Given the description of an element on the screen output the (x, y) to click on. 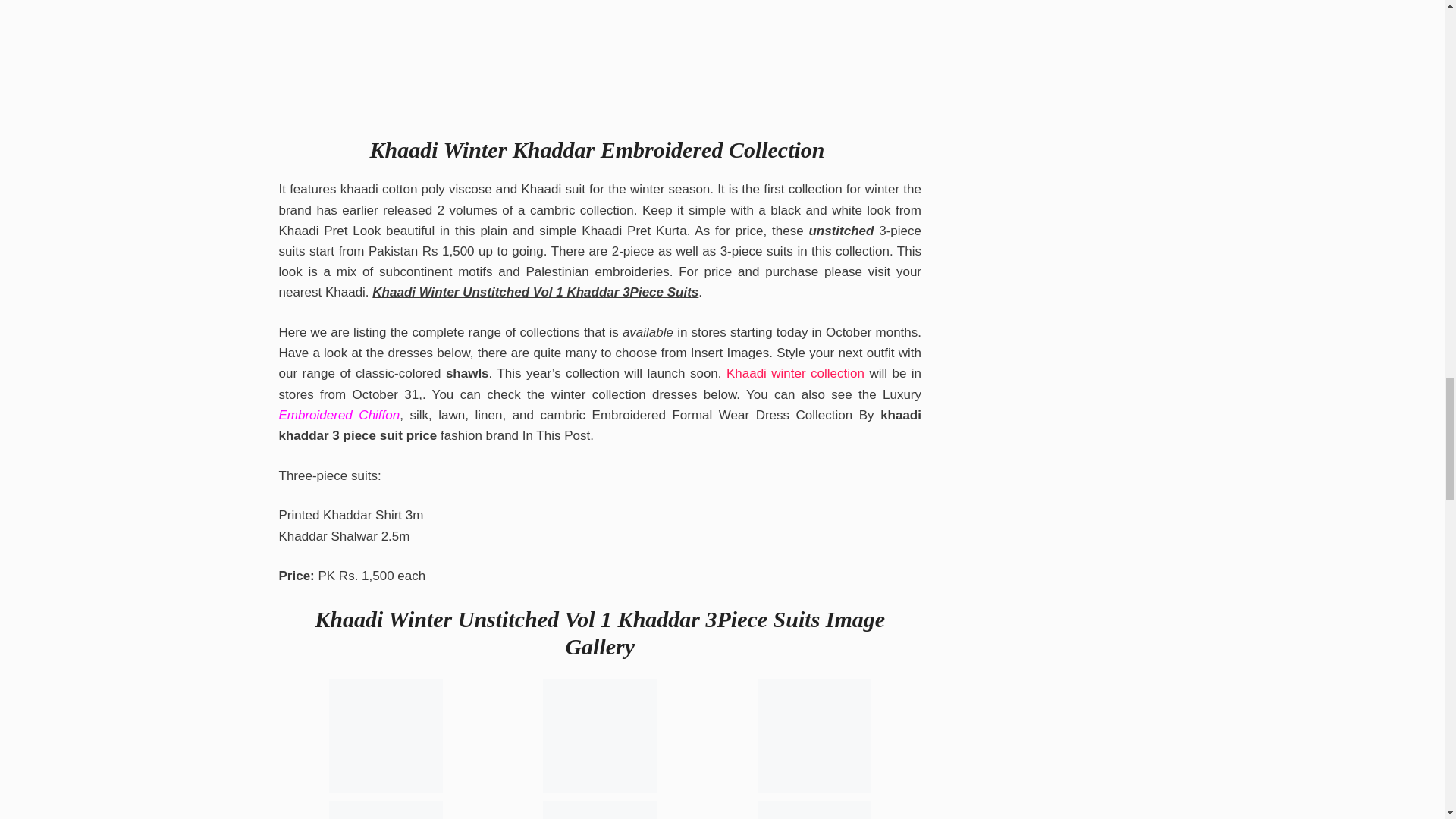
Khaadi winter collection (795, 373)
Khaadi winter collection (795, 373)
